Given the description of an element on the screen output the (x, y) to click on. 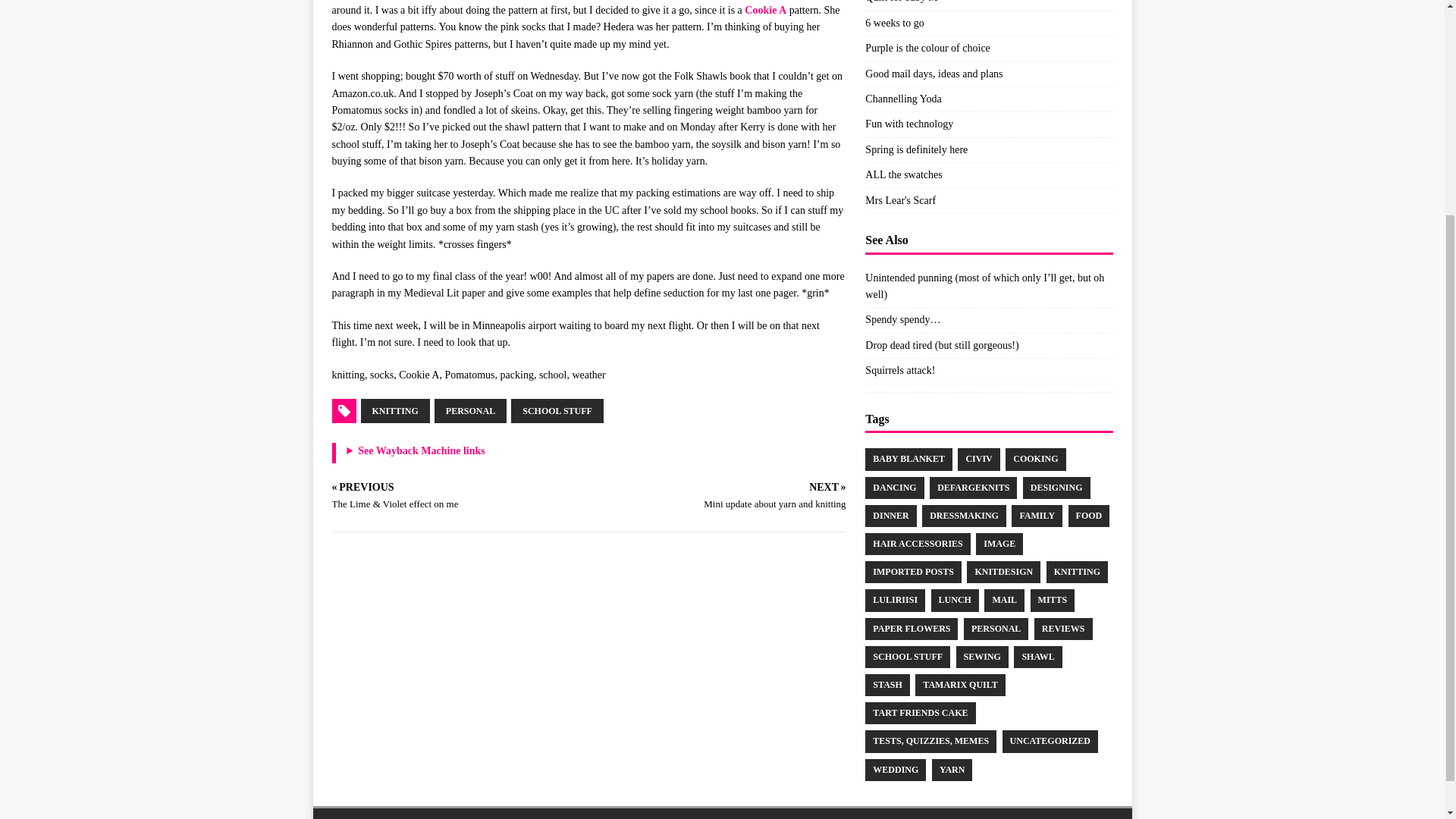
family (1036, 516)
DEFARGEKNITS (973, 487)
Image (999, 544)
COOKING (1035, 458)
Quilt for baby M (900, 1)
KNITTING (395, 410)
Purple is the colour of choice (927, 48)
Channelling Yoda (902, 98)
luliriisi (894, 599)
BABY BLANKET (908, 458)
